Given the description of an element on the screen output the (x, y) to click on. 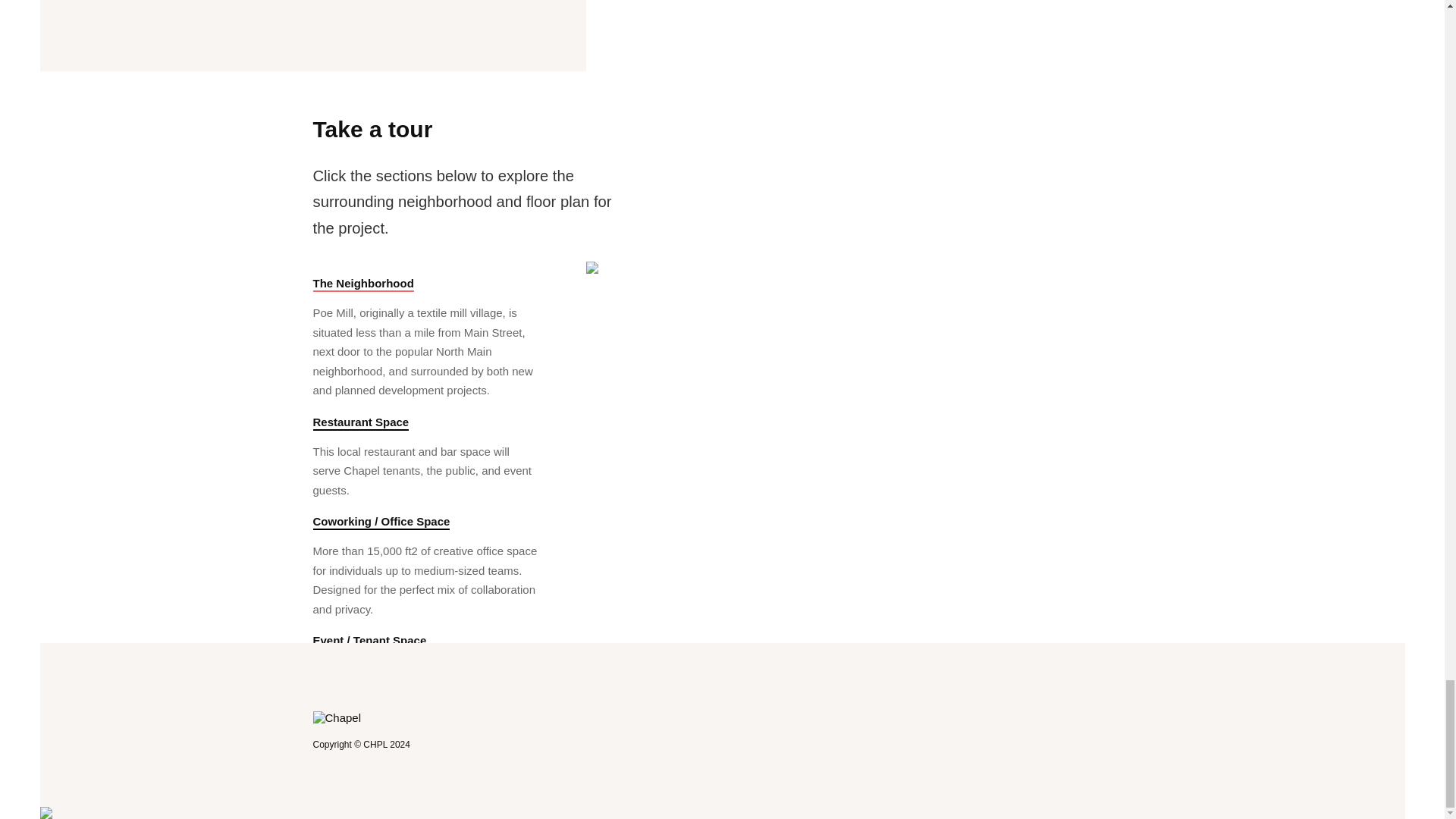
The Neighborhood (363, 283)
Learn More (366, 781)
Restaurant Space (361, 422)
